Given the description of an element on the screen output the (x, y) to click on. 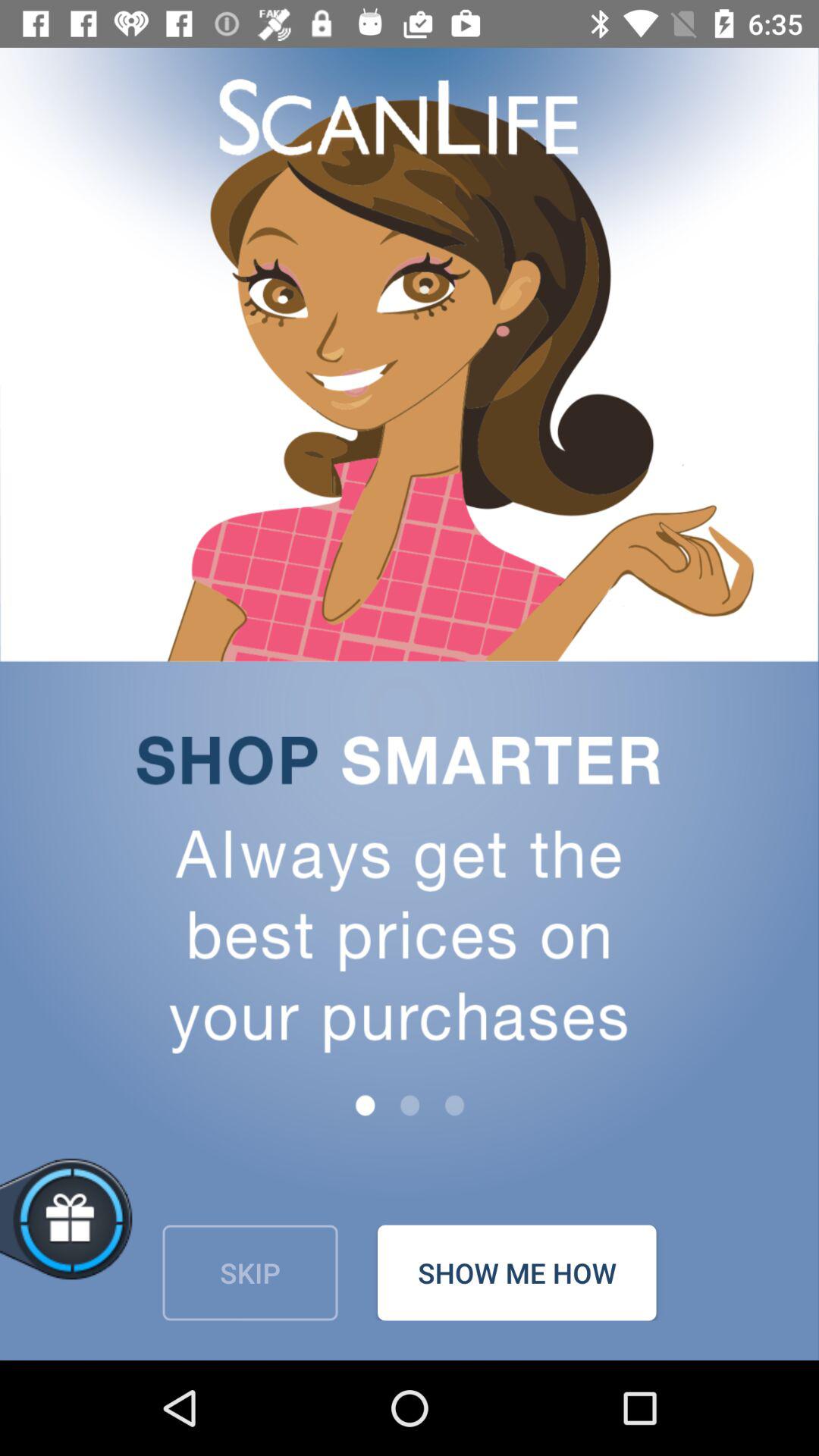
gift option (119, 1236)
